Given the description of an element on the screen output the (x, y) to click on. 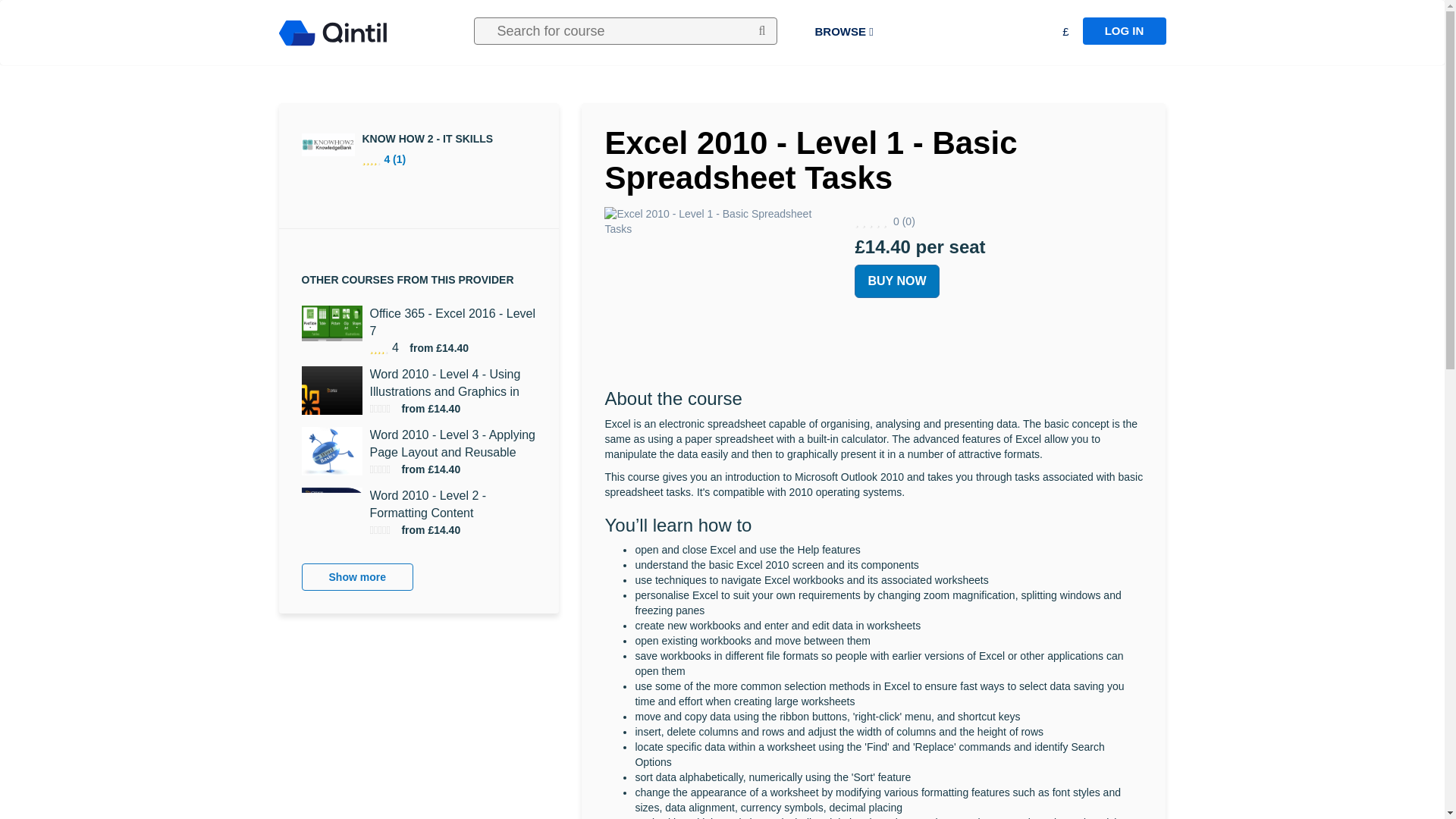
BROWSE (842, 31)
